Given the description of an element on the screen output the (x, y) to click on. 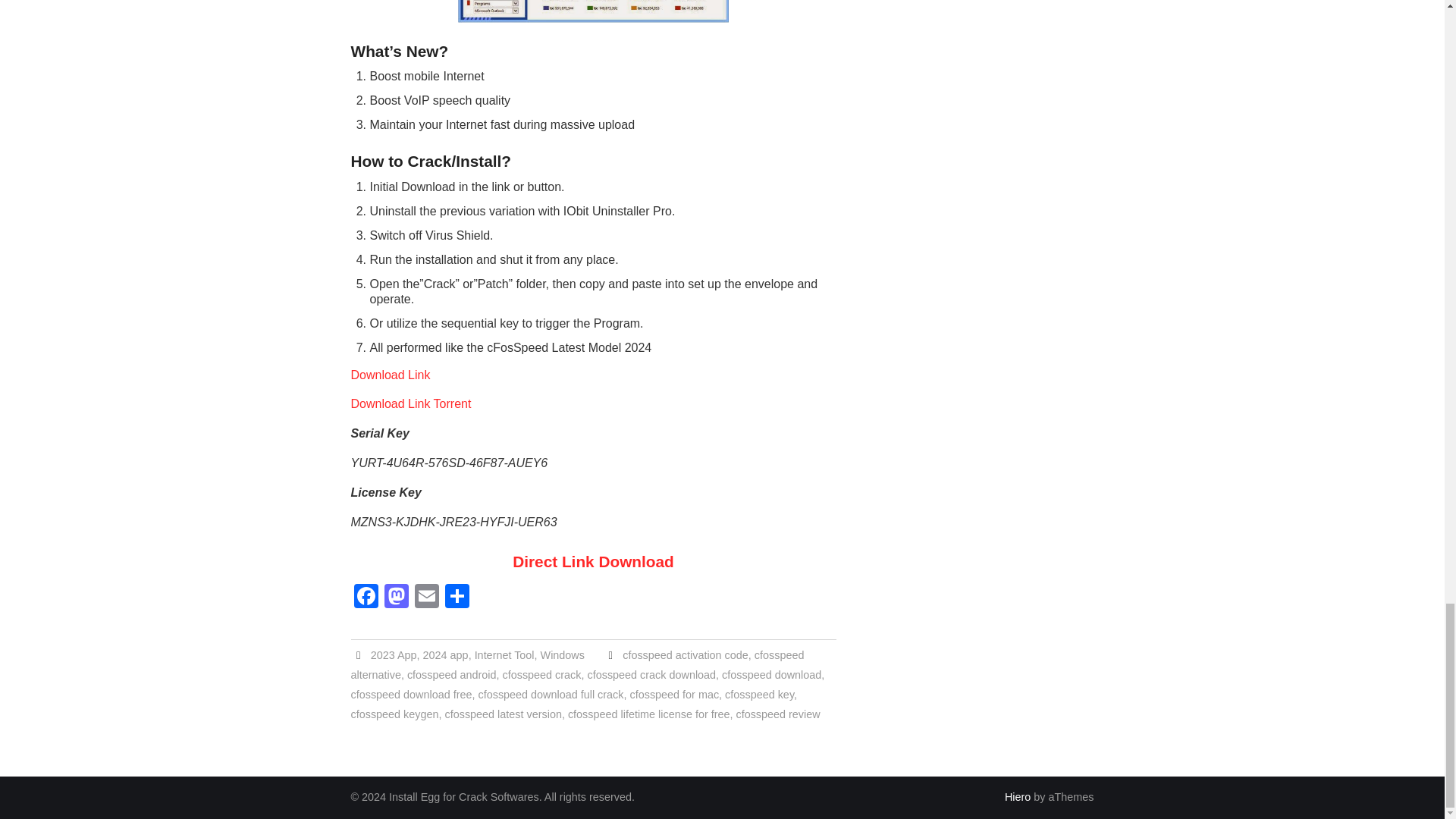
cfosspeed alternative (576, 664)
cfosspeed download free (410, 694)
cfosspeed crack (541, 674)
Direct Link Download (593, 561)
cfosspeed keygen (394, 714)
Mastodon (395, 597)
cfosspeed download (771, 674)
cfosspeed key (759, 694)
cfosspeed activation code (685, 654)
Windows (562, 654)
Internet Tool (504, 654)
2024 app (445, 654)
Mastodon (395, 597)
2023 App (393, 654)
cfosspeed download full crack (551, 694)
